Given the description of an element on the screen output the (x, y) to click on. 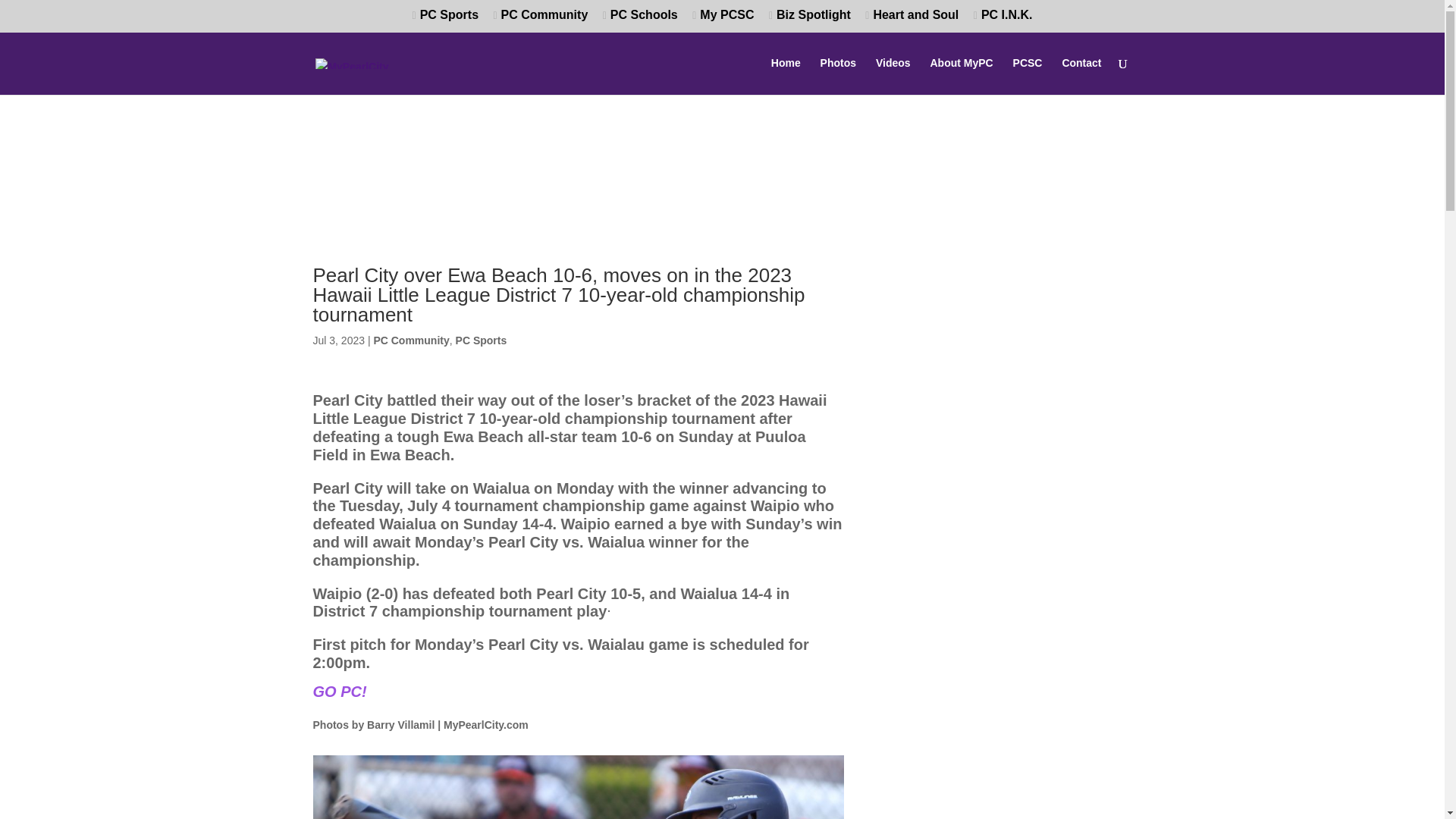
My PCSC (723, 20)
PC Sports (445, 20)
PCSC (1027, 76)
Home (785, 76)
Biz Spotlight (809, 20)
Videos (893, 76)
PC I.N.K. (1003, 20)
PC Community (410, 340)
PC Sports (480, 340)
About MyPC (961, 76)
PC Community (540, 20)
PC Schools (640, 20)
Contact (1080, 76)
Photos (838, 76)
Heart and Soul (911, 20)
